Given the description of an element on the screen output the (x, y) to click on. 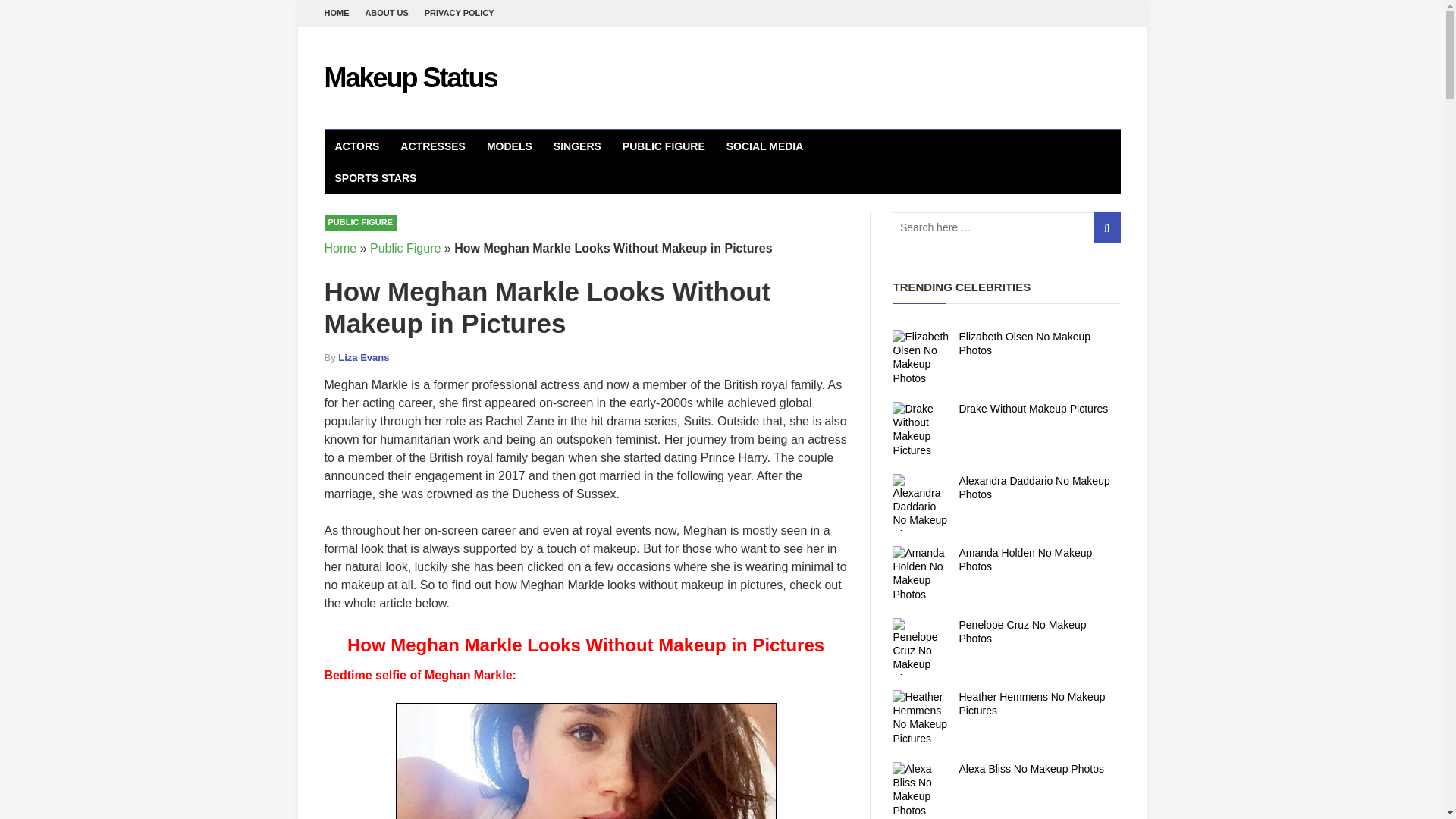
Home (340, 247)
SOCIAL MEDIA (764, 146)
ABOUT US (386, 13)
ACTRESSES (433, 146)
MODELS (509, 146)
HOME (336, 13)
PUBLIC FIGURE (360, 222)
Makeup Status (410, 77)
SPORTS STARS (376, 178)
Liza Evans (362, 357)
SINGERS (577, 146)
ACTORS (357, 146)
Search for: (1005, 227)
PRIVACY POLICY (460, 13)
Public Figure (405, 247)
